Given the description of an element on the screen output the (x, y) to click on. 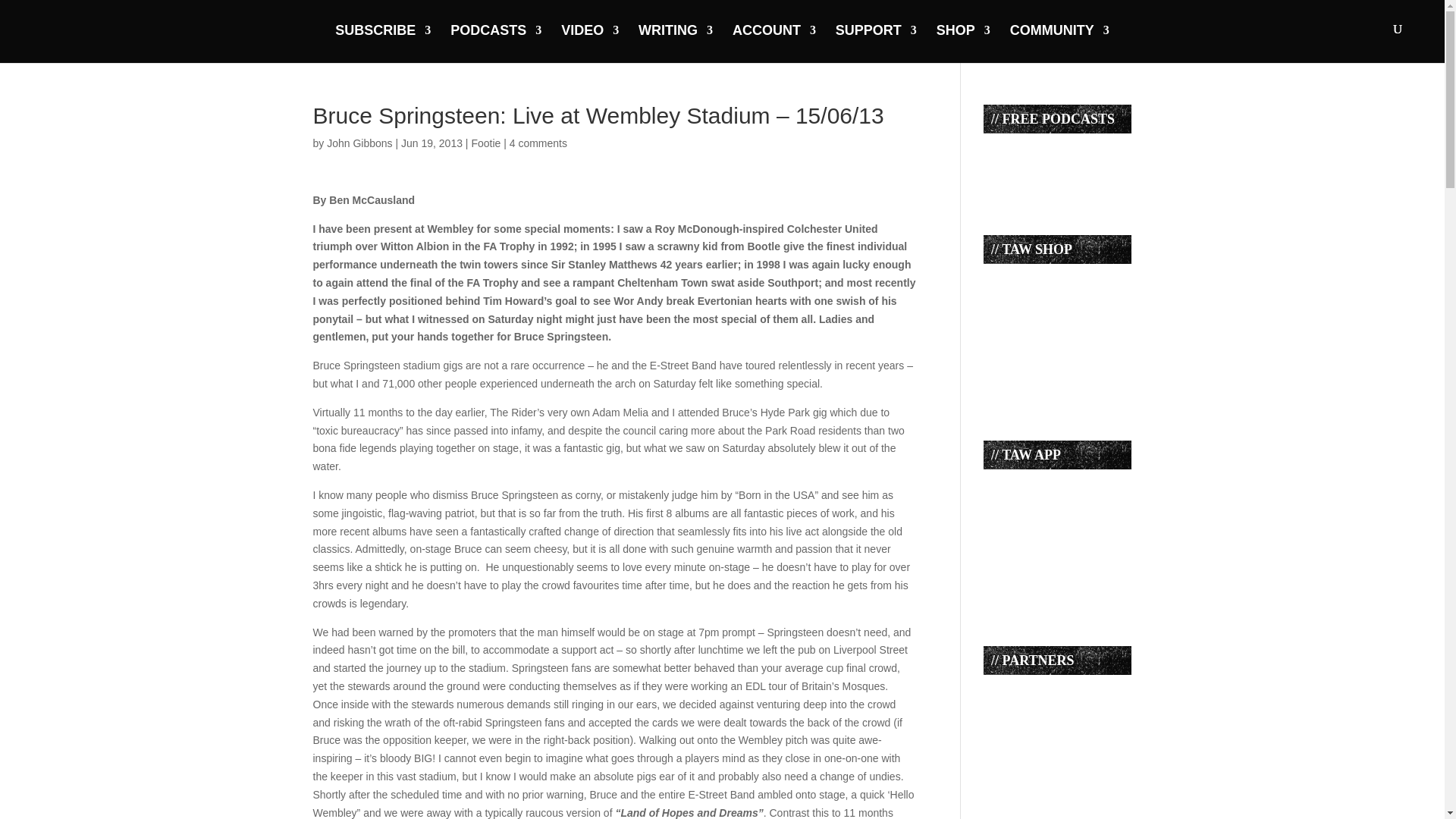
SUPPORT (876, 42)
ACCOUNT (773, 42)
WRITING (676, 42)
COMMUNITY (1059, 42)
SUBSCRIBE (382, 42)
VIDEO (589, 42)
PODCASTS (495, 42)
Posts by John Gibbons (358, 143)
SHOP (963, 42)
